Given the description of an element on the screen output the (x, y) to click on. 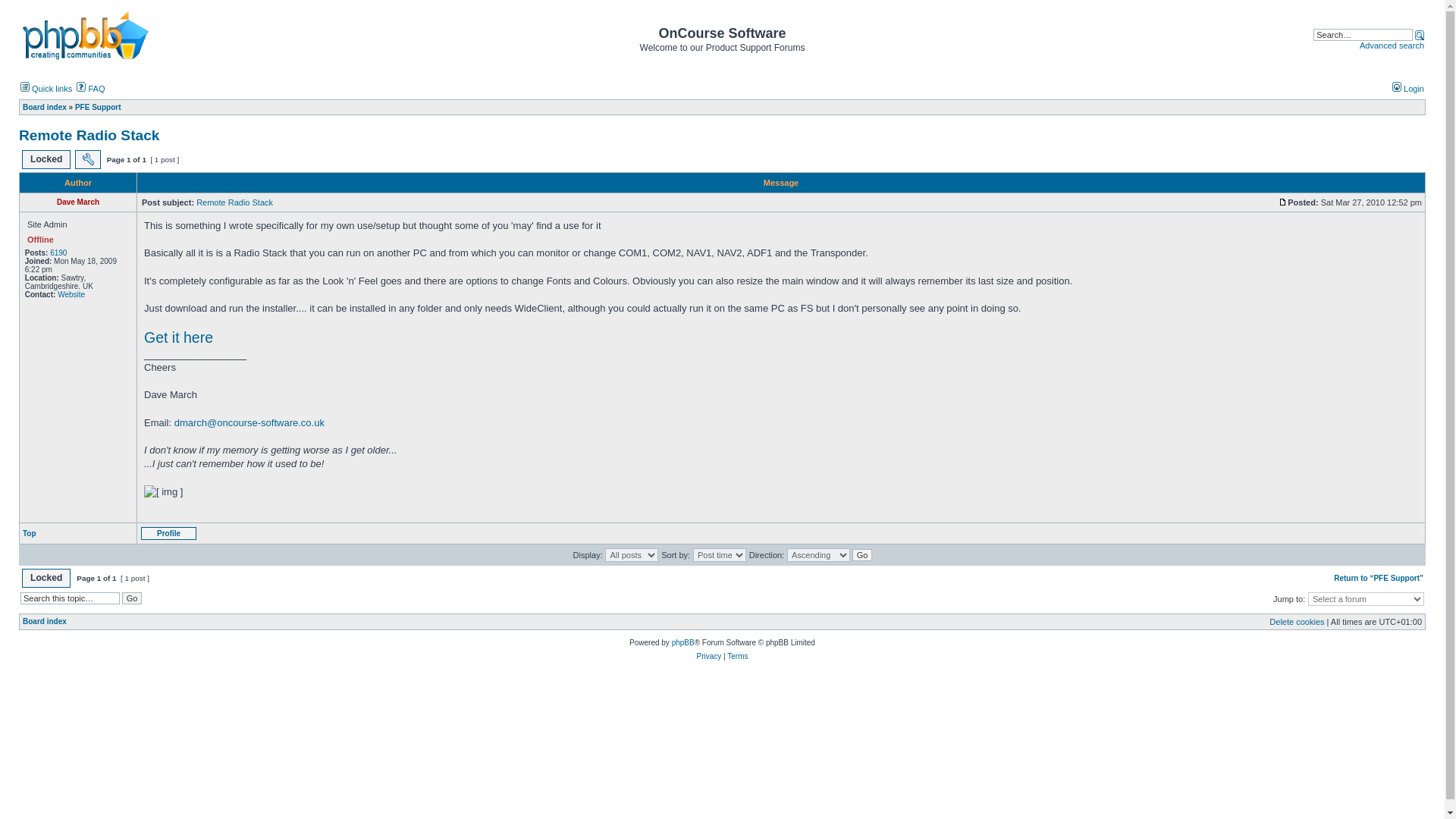
Go (132, 598)
Get it here (178, 338)
Dave March (77, 202)
Go (861, 554)
Board index (44, 107)
6190 (57, 252)
phpBB (682, 642)
Remote Radio Stack (234, 202)
Profile: Dave March (168, 533)
Go (132, 598)
PFE Support (97, 107)
Go (861, 554)
